Given the description of an element on the screen output the (x, y) to click on. 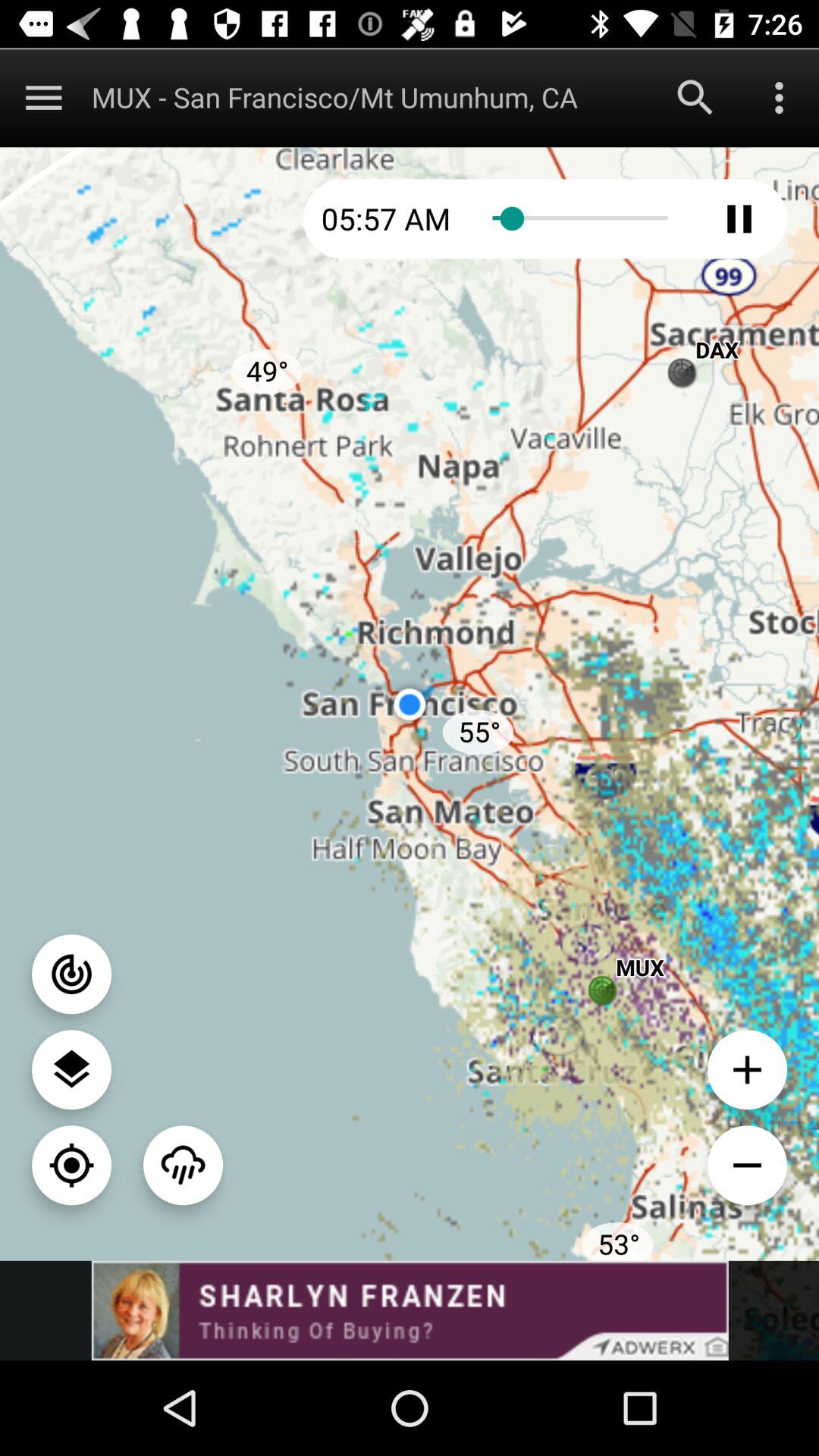
search (695, 97)
